Given the description of an element on the screen output the (x, y) to click on. 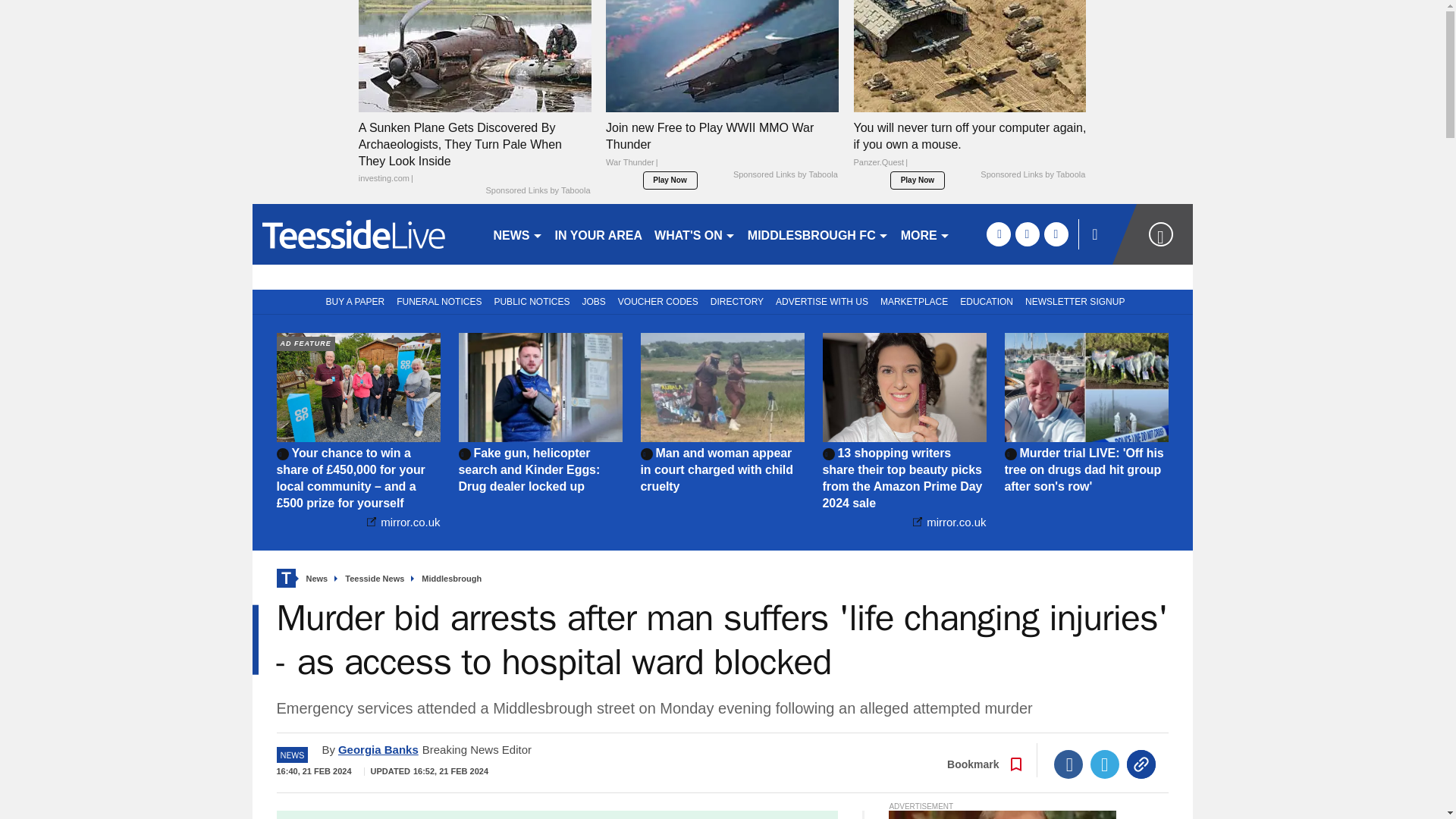
Facebook (1068, 764)
Join new Free to Play WWII MMO War Thunder (721, 149)
WHAT'S ON (694, 233)
NEWS (517, 233)
Sponsored Links by Taboola (1031, 175)
Sponsored Links by Taboola (536, 190)
twitter (1026, 233)
Twitter (1104, 764)
Join new Free to Play WWII MMO War Thunder (721, 55)
IN YOUR AREA (598, 233)
Play Now (916, 180)
Sponsored Links by Taboola (785, 175)
gazettelive (365, 233)
instagram (1055, 233)
